Given the description of an element on the screen output the (x, y) to click on. 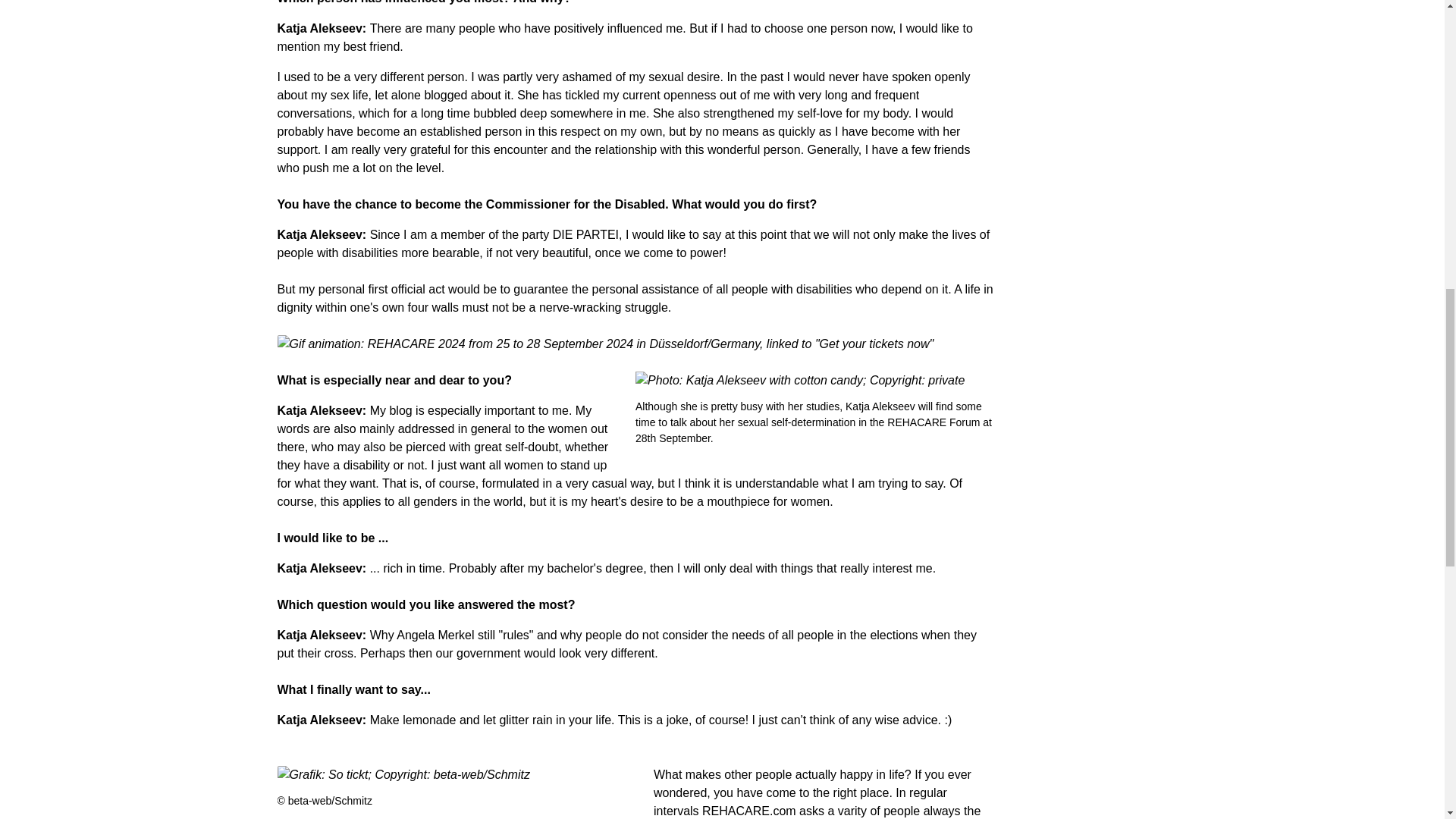
Photo: Katja Alekseev with cotton candy; Copyright: private (814, 380)
